Given the description of an element on the screen output the (x, y) to click on. 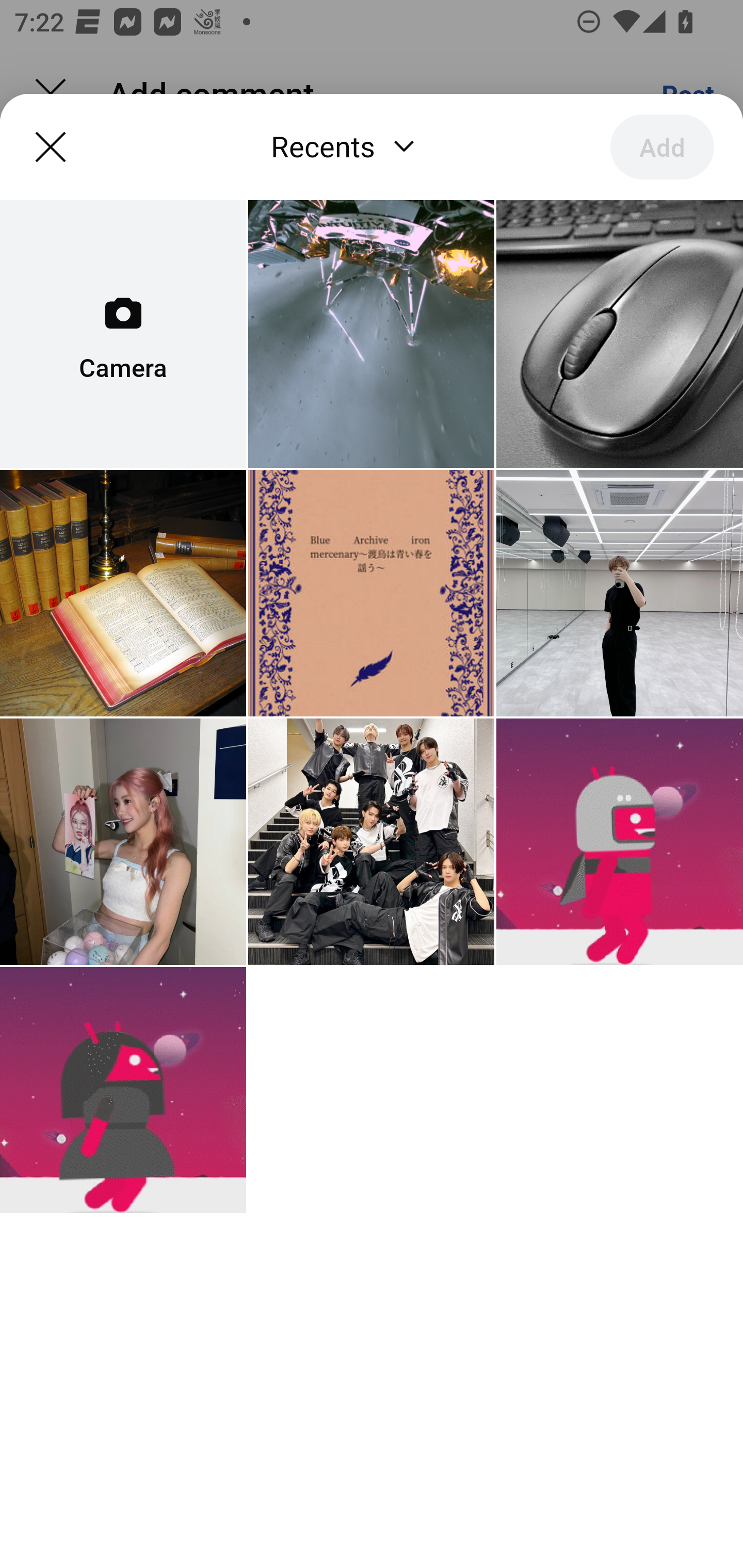
Selected folder: Recents Recents (346, 147)
Close (50, 146)
Add (662, 146)
Open camera Camera (122, 333)
Photo, Date: Mar 5, 2024 (371, 333)
Photo, Date: Mar 5, 2024 (619, 333)
Photo, Date: Mar 5, 2024 (122, 593)
Photo, Date: Mar 5, 2024 (371, 593)
Photo, Date: Mar 5, 2024 (619, 593)
Photo, Date: Mar 5, 2024 (122, 841)
Photo, Date: Mar 5, 2024 (371, 841)
Photo, Date: Feb 5, 2024 (619, 841)
Photo, Date: Feb 5, 2024 (122, 1090)
